Given the description of an element on the screen output the (x, y) to click on. 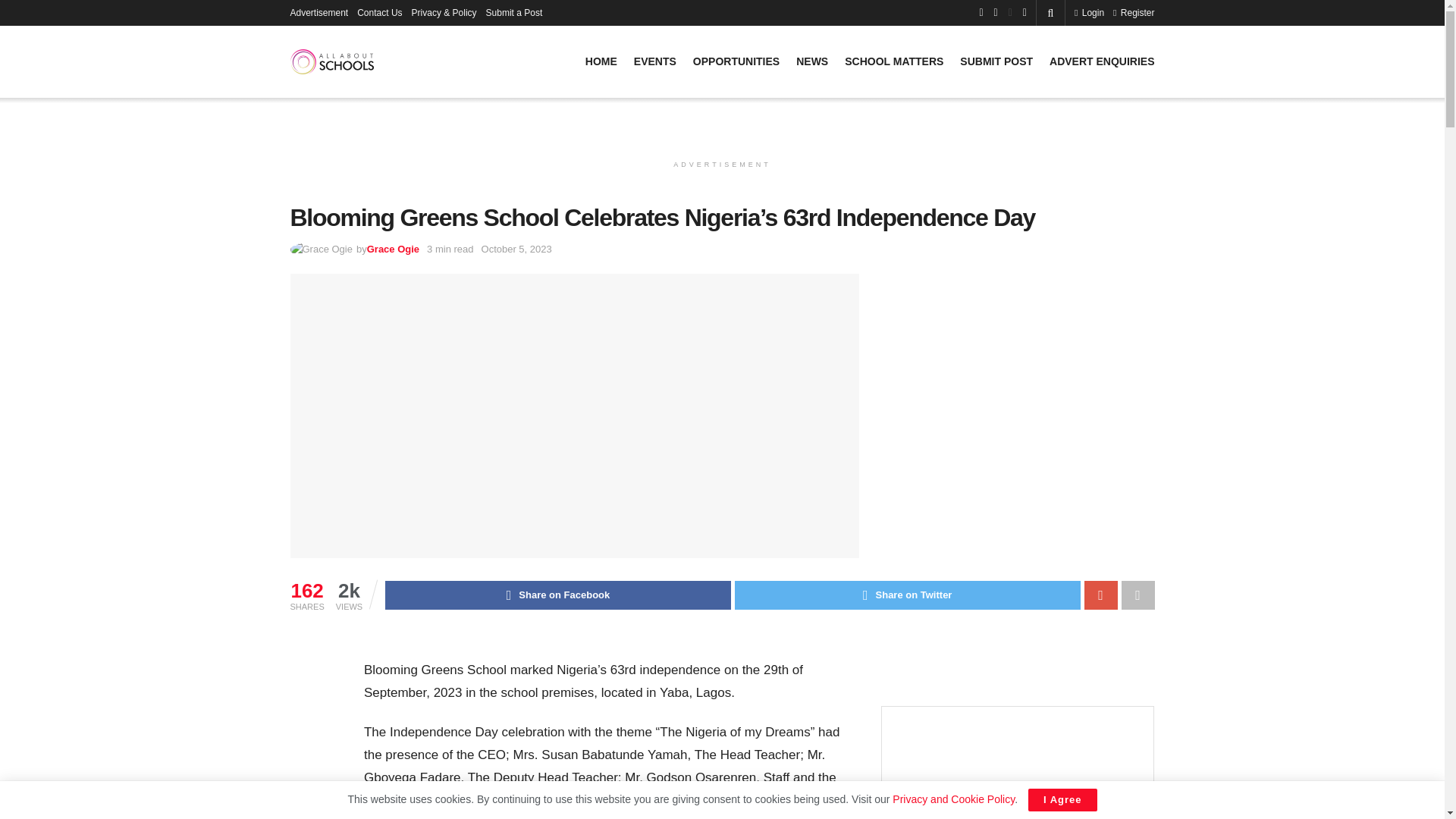
Submit a Post (514, 12)
Grace Ogie (392, 248)
Contact Us (378, 12)
SUBMIT POST (995, 61)
SCHOOL MATTERS (893, 61)
ADVERT ENQUIRIES (1101, 61)
Advertisement (318, 12)
OPPORTUNITIES (735, 61)
October 5, 2023 (516, 248)
Login (1088, 12)
Register (1133, 12)
